Given the description of an element on the screen output the (x, y) to click on. 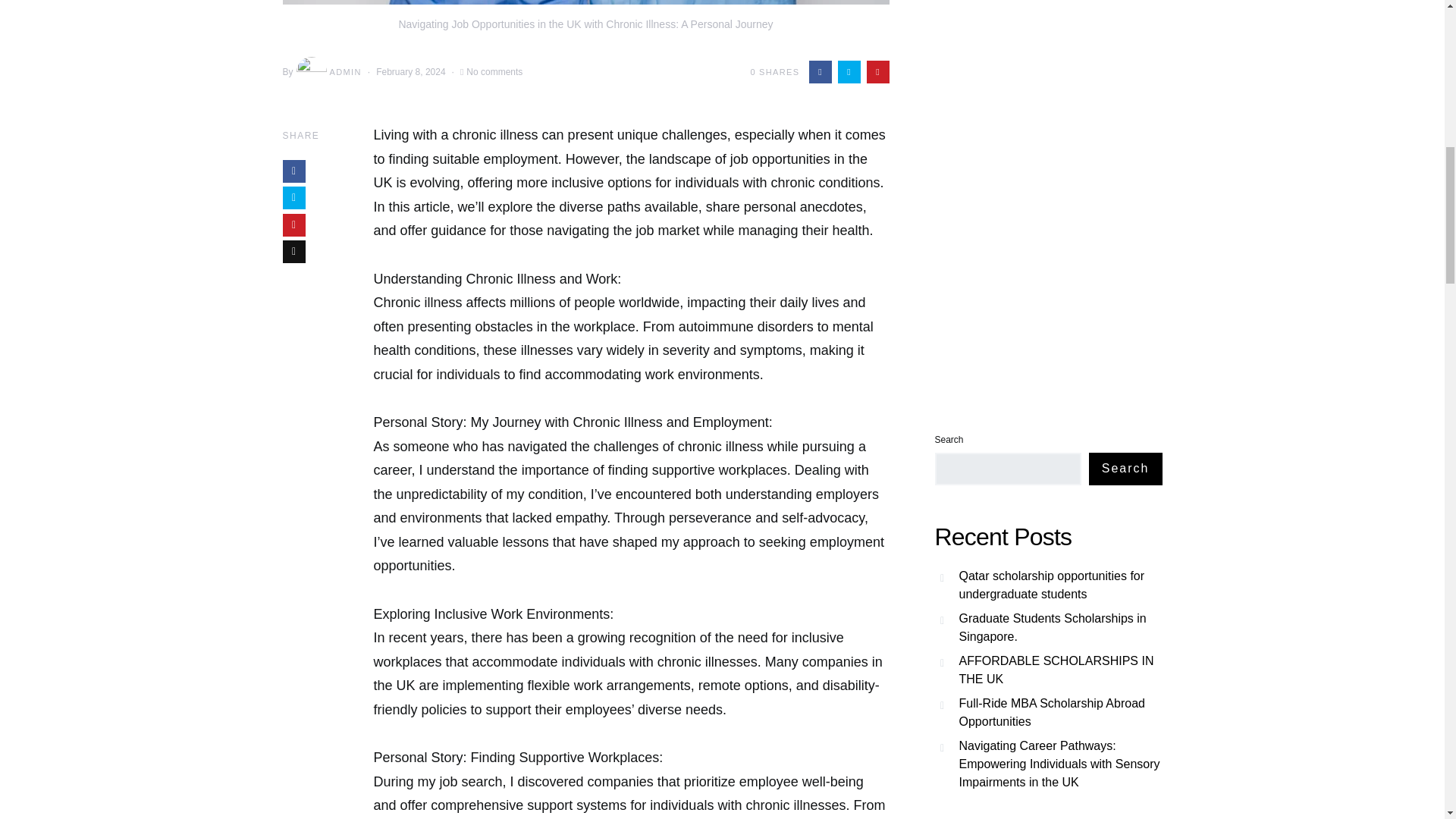
No comments (493, 71)
View all posts by Admin (327, 71)
ADMIN (327, 71)
